Given the description of an element on the screen output the (x, y) to click on. 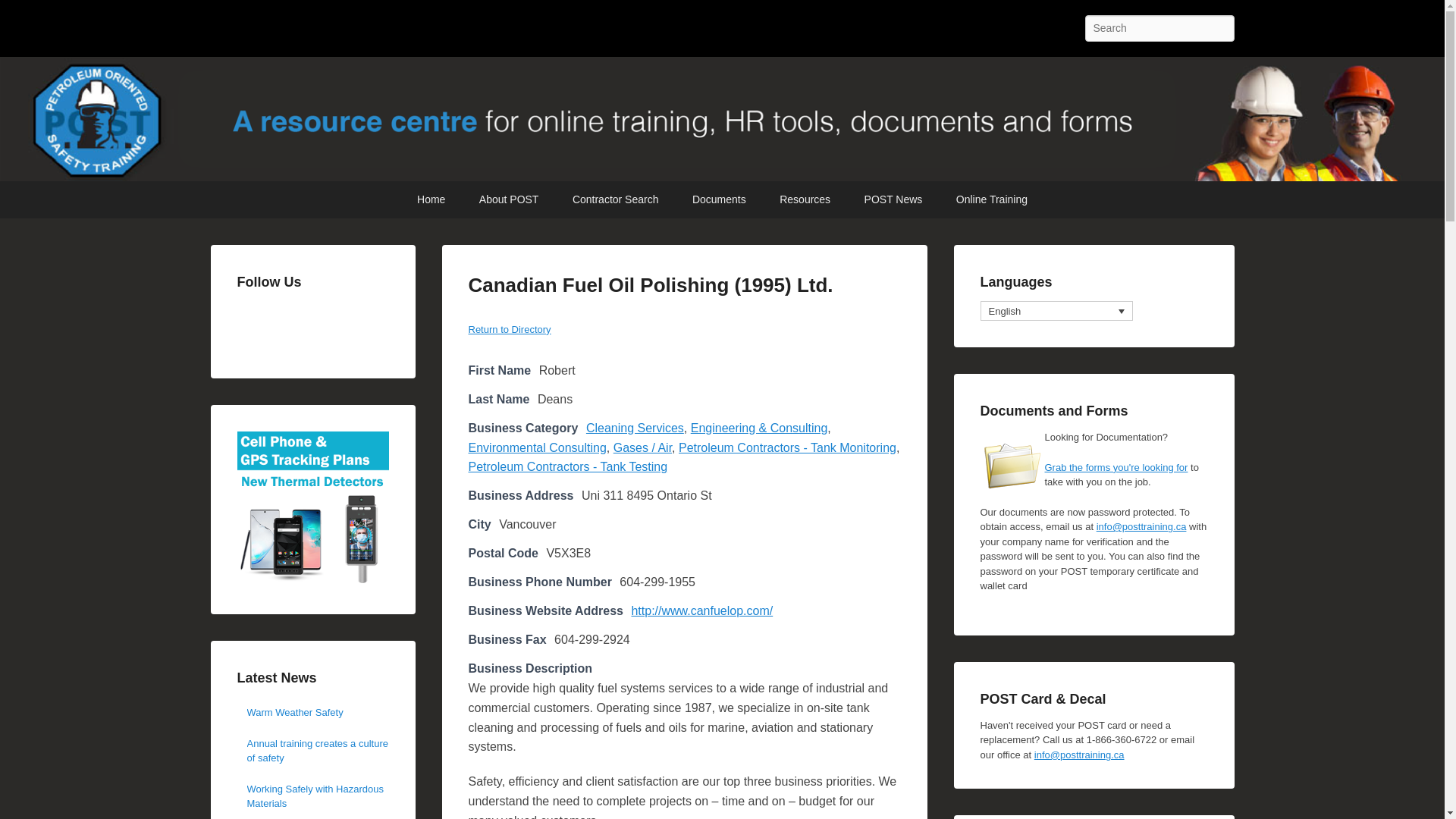
About POST (509, 199)
POST News (892, 199)
Grab the forms you're looking for (1116, 467)
Online Training (991, 199)
Resources (804, 199)
Contractor Search (615, 199)
Documents (719, 199)
Home (430, 199)
